Given the description of an element on the screen output the (x, y) to click on. 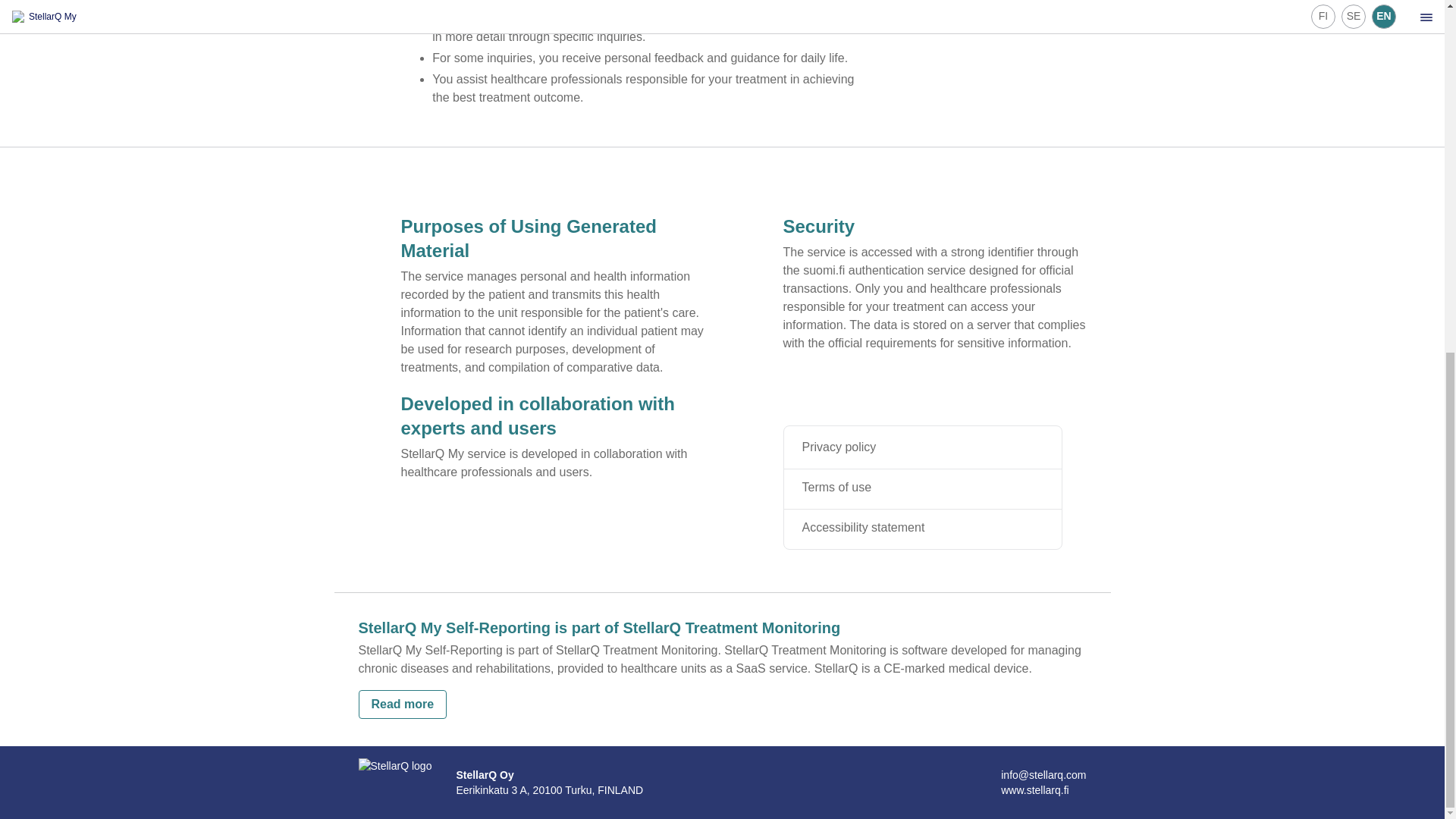
Terms of use (852, 486)
Read more (402, 704)
www.stellarq.fi (1034, 789)
Accessibility statement (879, 526)
Privacy policy (854, 446)
facts (721, 660)
